Given the description of an element on the screen output the (x, y) to click on. 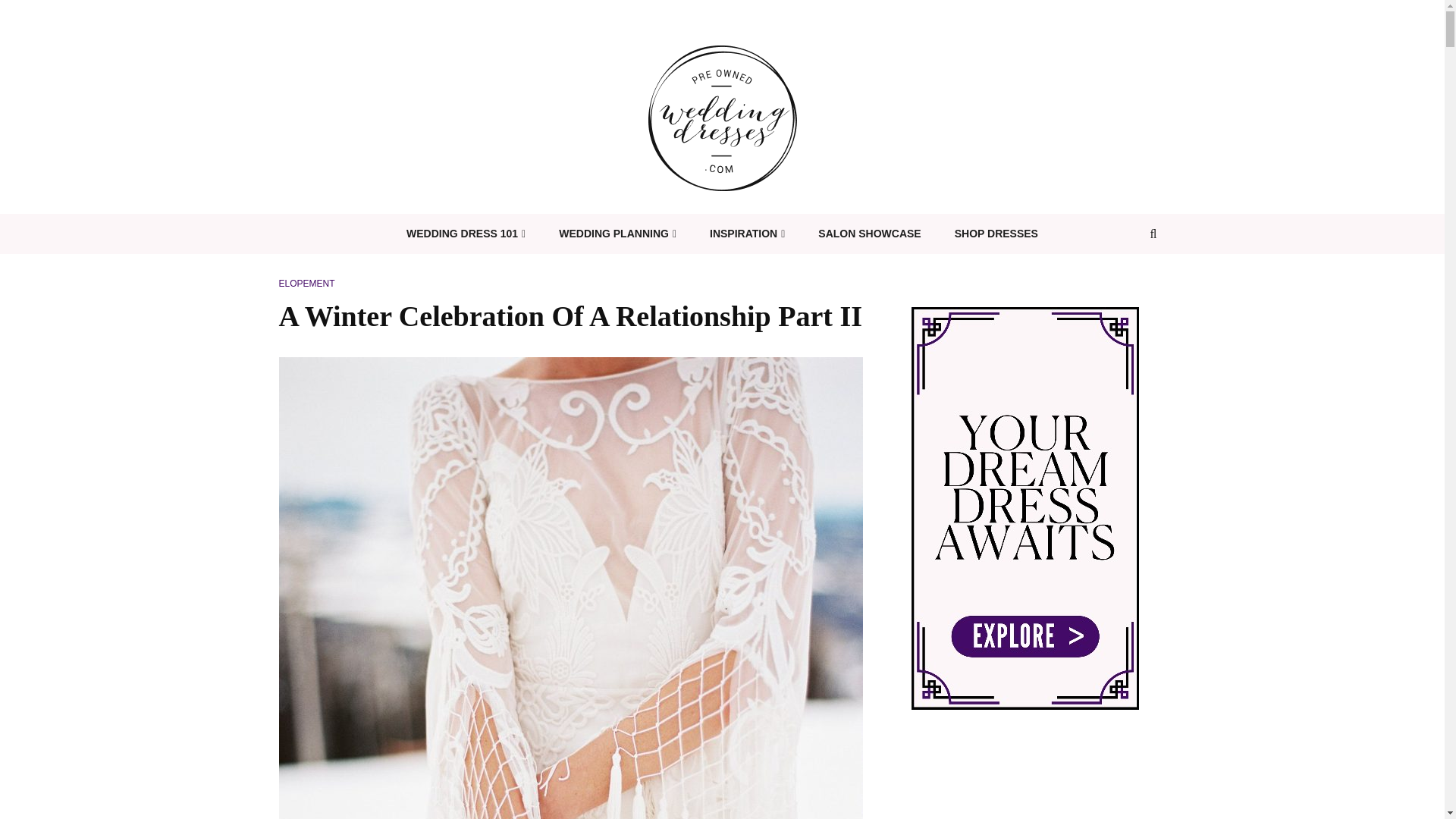
ELOPEMENT (306, 283)
WEDDING DRESS 101 (465, 233)
WEDDING PLANNING (617, 233)
INSPIRATION (747, 233)
SALON SHOWCASE (869, 233)
SHOP DRESSES (995, 233)
